Given the description of an element on the screen output the (x, y) to click on. 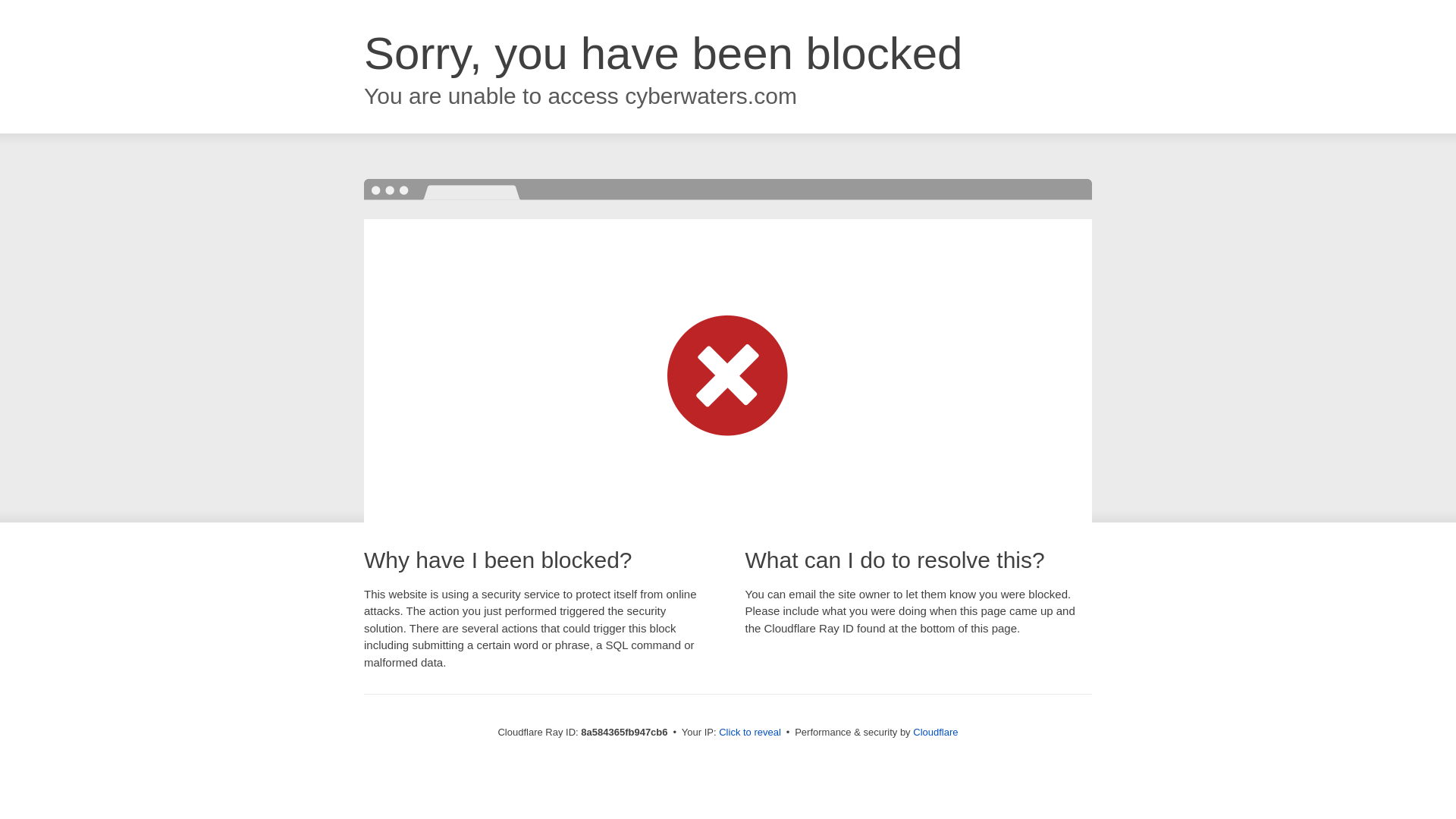
Cloudflare (935, 731)
Click to reveal (749, 732)
